Given the description of an element on the screen output the (x, y) to click on. 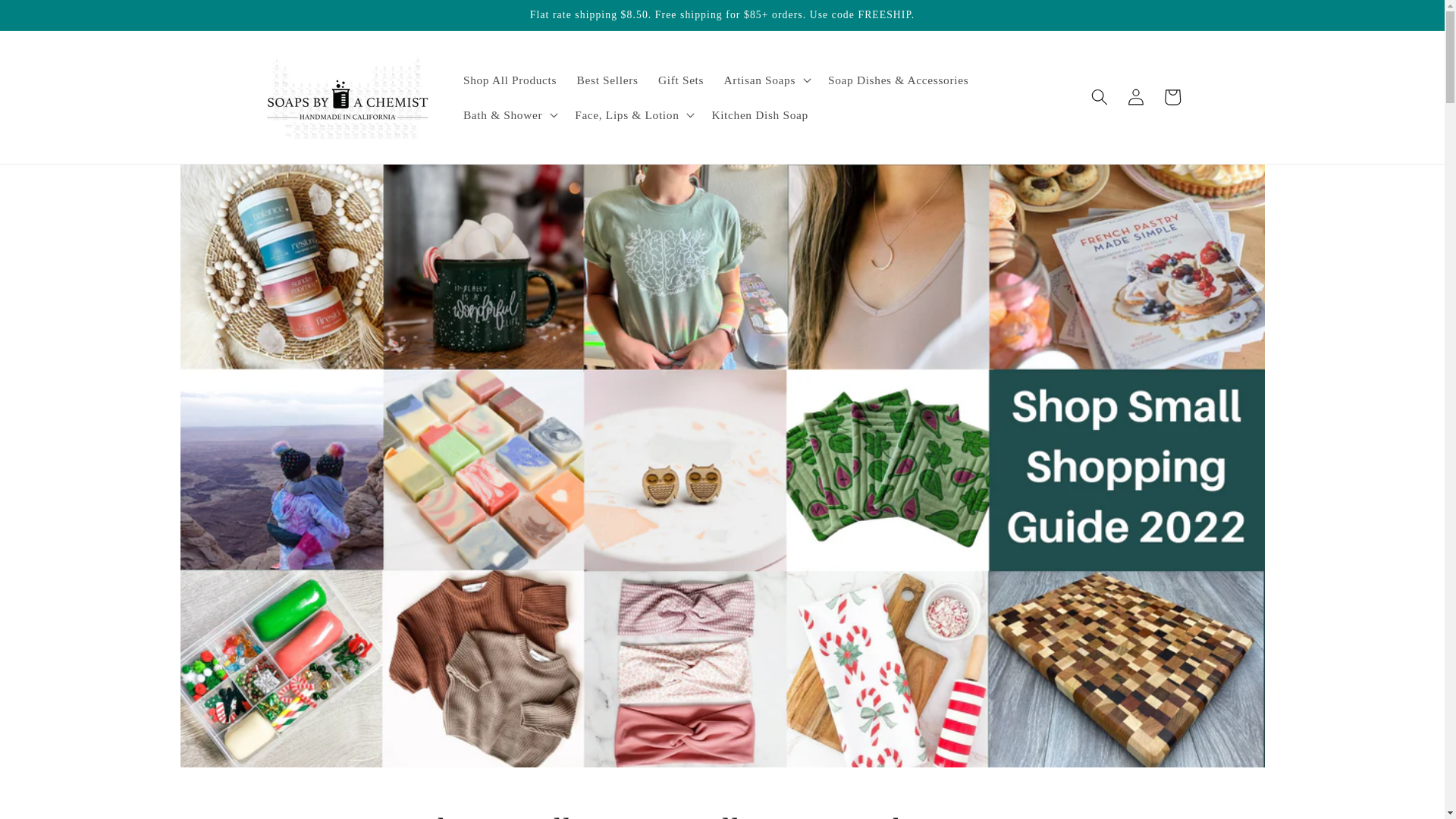
Gift Sets (680, 80)
Skip to content (50, 19)
Shop All Products (509, 80)
Best Sellers (606, 80)
